Given the description of an element on the screen output the (x, y) to click on. 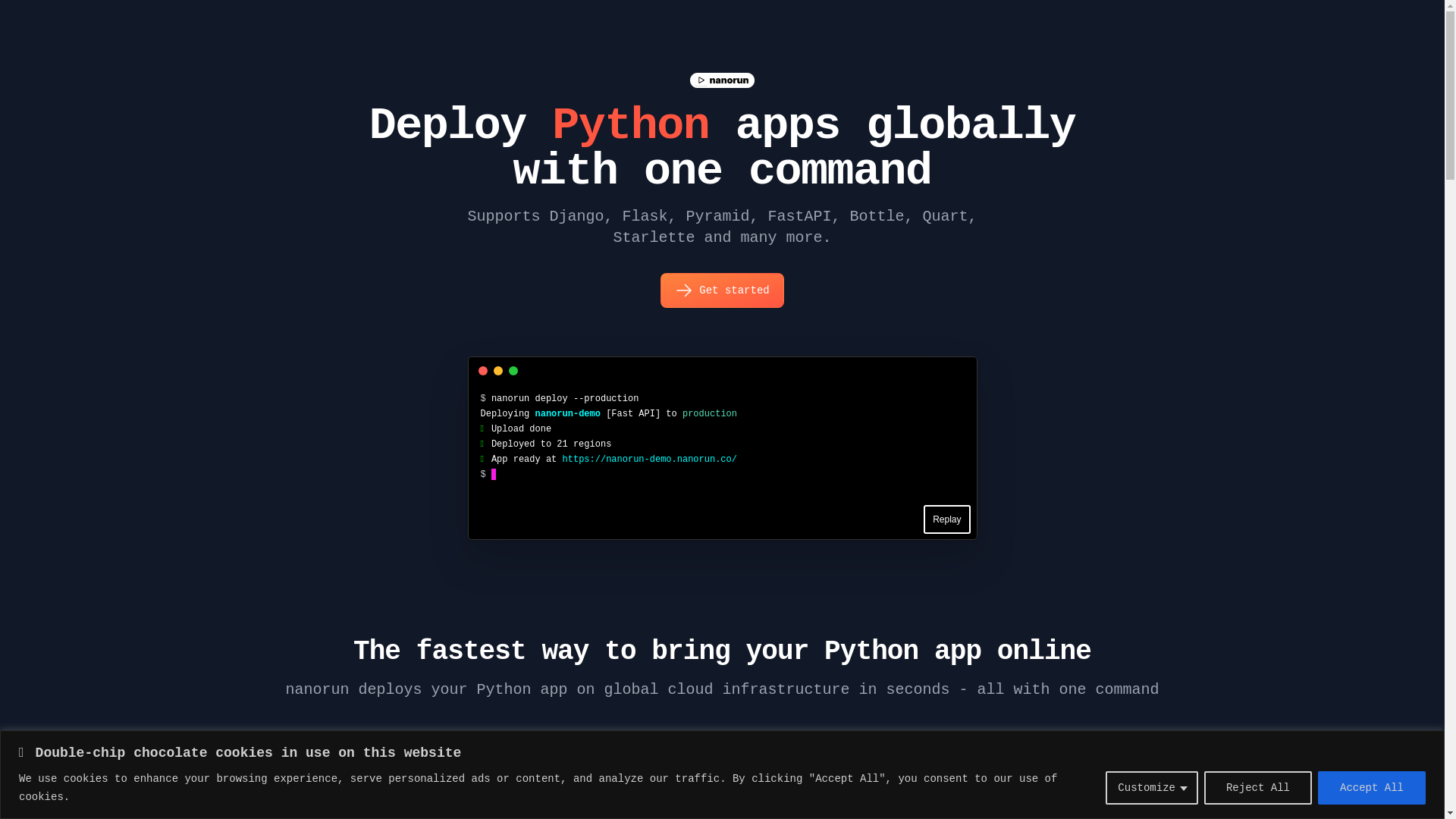
https://nanorun-demo.nanorun.co/ Element type: text (649, 459)
Replay Element type: text (946, 519)
Get started Element type: text (721, 290)
